Given the description of an element on the screen output the (x, y) to click on. 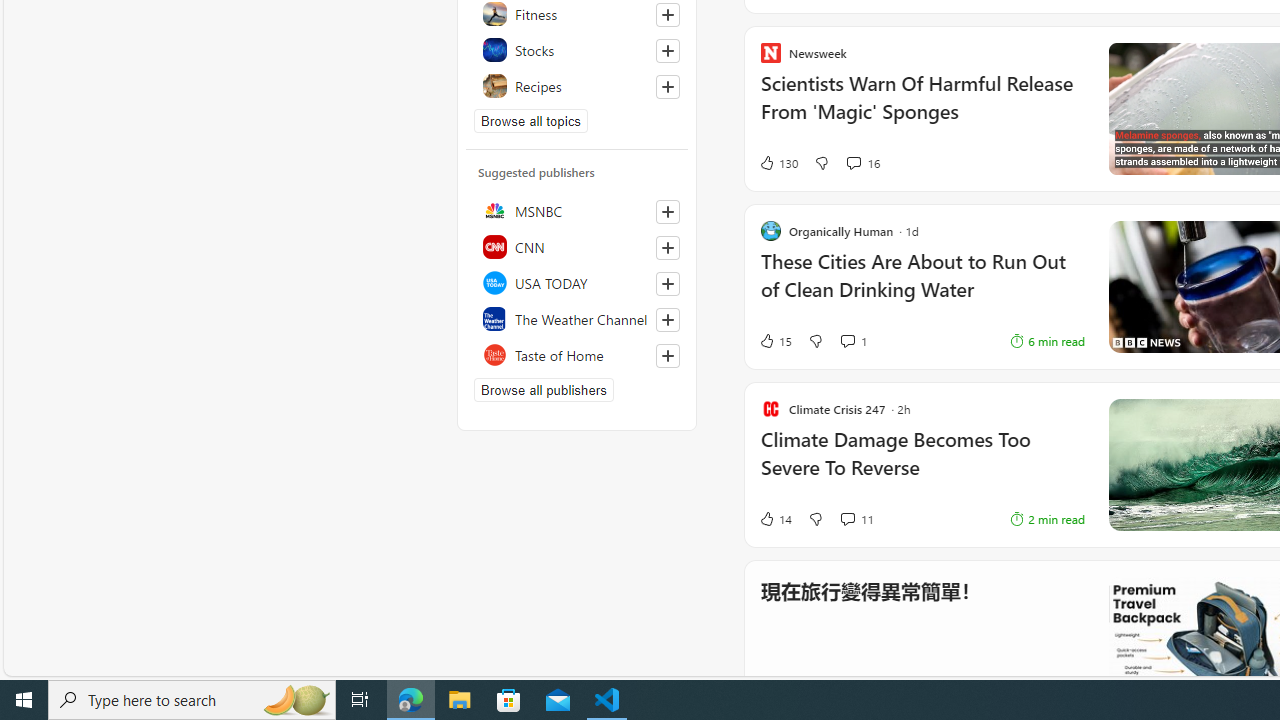
View comments 11 Comment (855, 518)
Scientists Warn Of Harmful Release From 'Magic' Sponges (922, 107)
MSNBC (577, 210)
USA TODAY (577, 282)
These Cities Are About to Run Out of Clean Drinking Water (1115, 285)
130 Like (778, 162)
Browse all topics (530, 120)
Taste of Home (577, 354)
14 Like (775, 518)
View comments 16 Comment (852, 162)
The Weather Channel (577, 318)
